Given the description of an element on the screen output the (x, y) to click on. 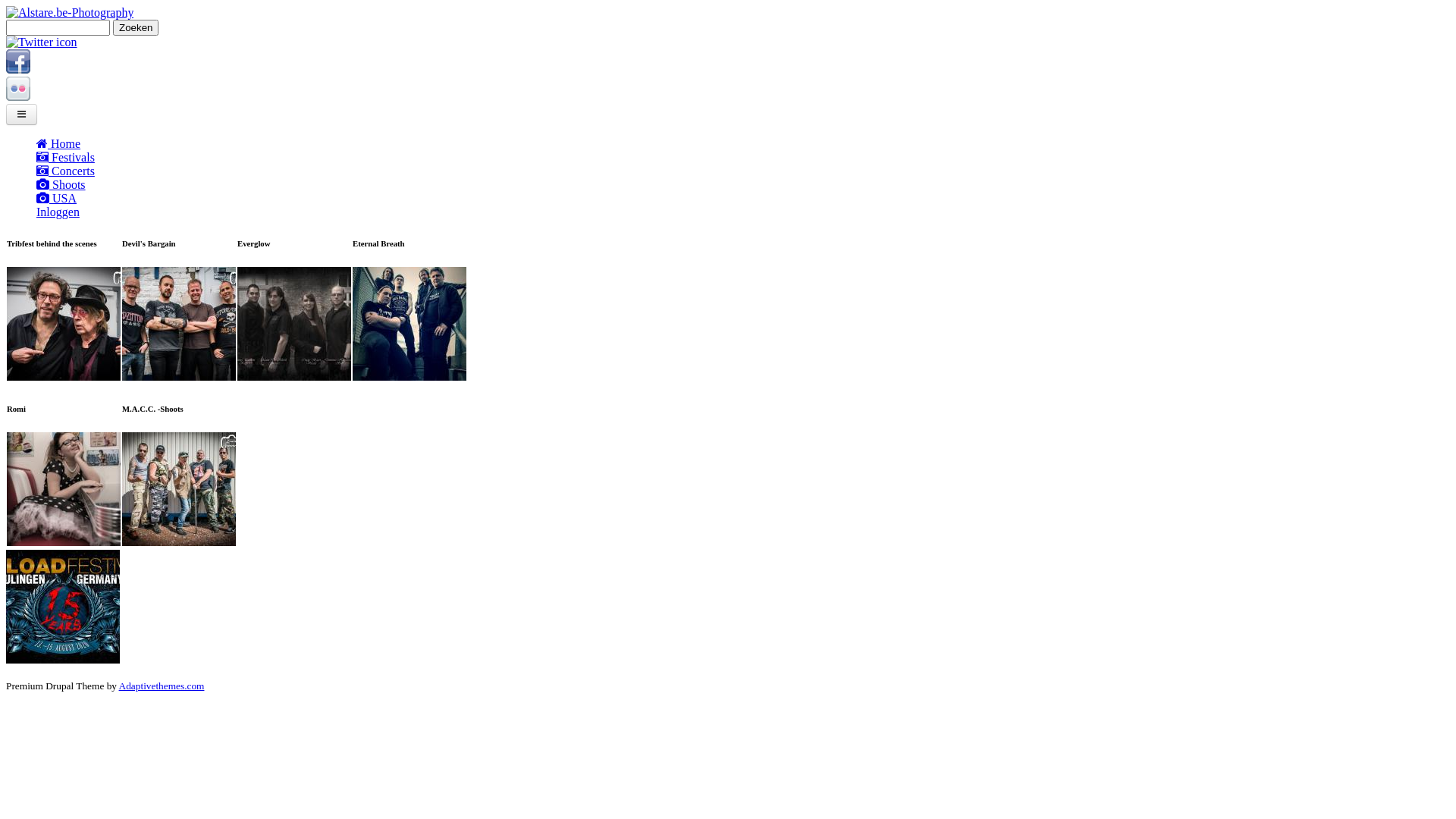
Concerts Element type: text (742, 171)
Visit Alstare.be on Facebook Element type: hover (18, 68)
Visit Erwin_66 on Twitter Element type: hover (41, 41)
Adaptivethemes.com Element type: text (161, 685)
Inloggen Element type: text (742, 212)
Zoeken Element type: text (135, 27)
Festivals Element type: text (742, 157)
USA Element type: text (742, 198)
Visit Altare.be-Photography on Flickr Element type: hover (18, 96)
Overslaan en naar de inhoud gaan Element type: text (88, 6)
Geef de woorden op waarnaar u wilt zoeken. Element type: hover (57, 27)
Shoots Element type: text (742, 184)
Reload 2020 Element type: hover (62, 658)
Home Element type: text (742, 143)
